Given the description of an element on the screen output the (x, y) to click on. 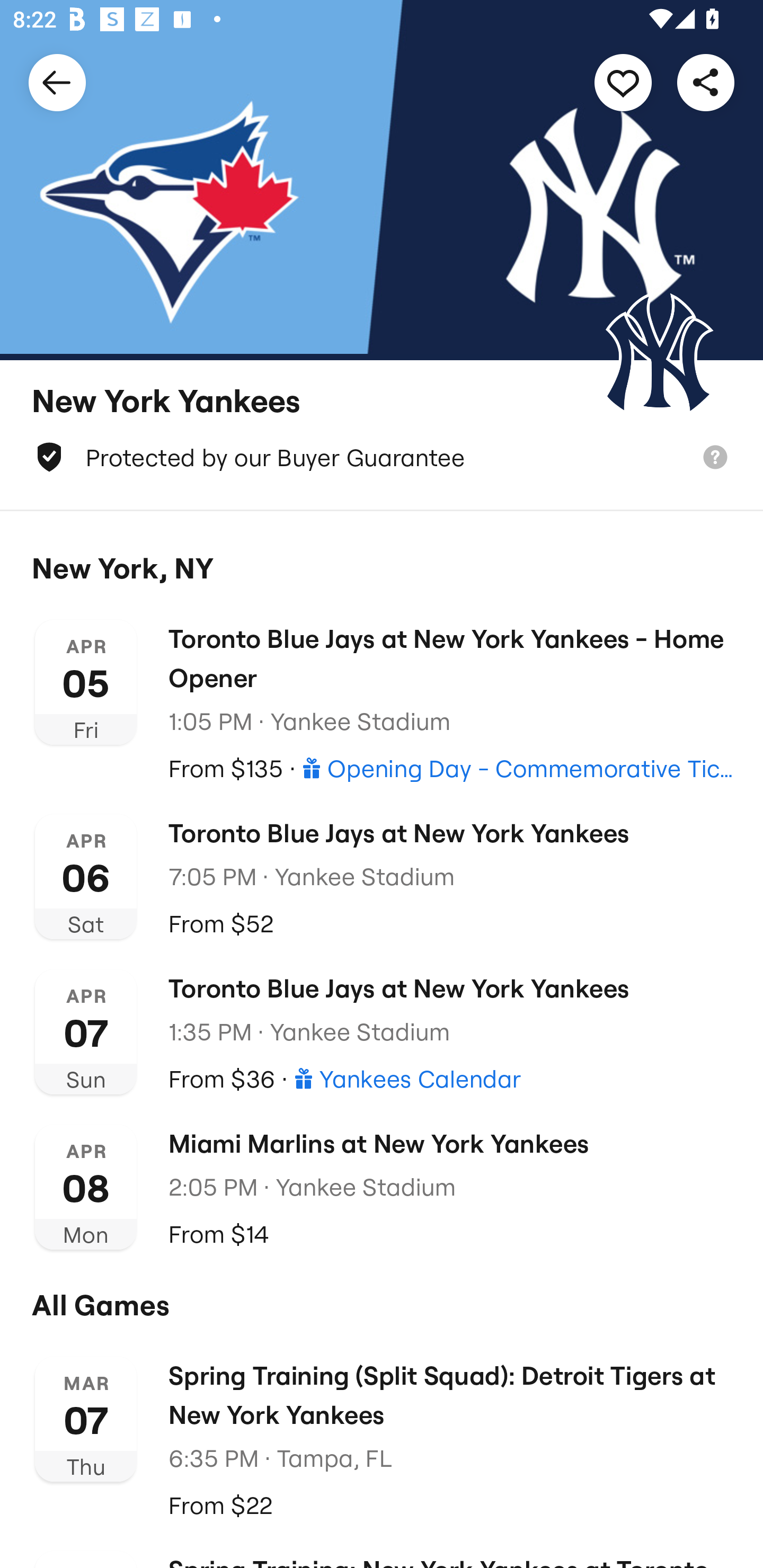
Back (57, 81)
Track this performer (623, 81)
Share this performer (705, 81)
Protected by our Buyer Guarantee Learn more (381, 456)
